Given the description of an element on the screen output the (x, y) to click on. 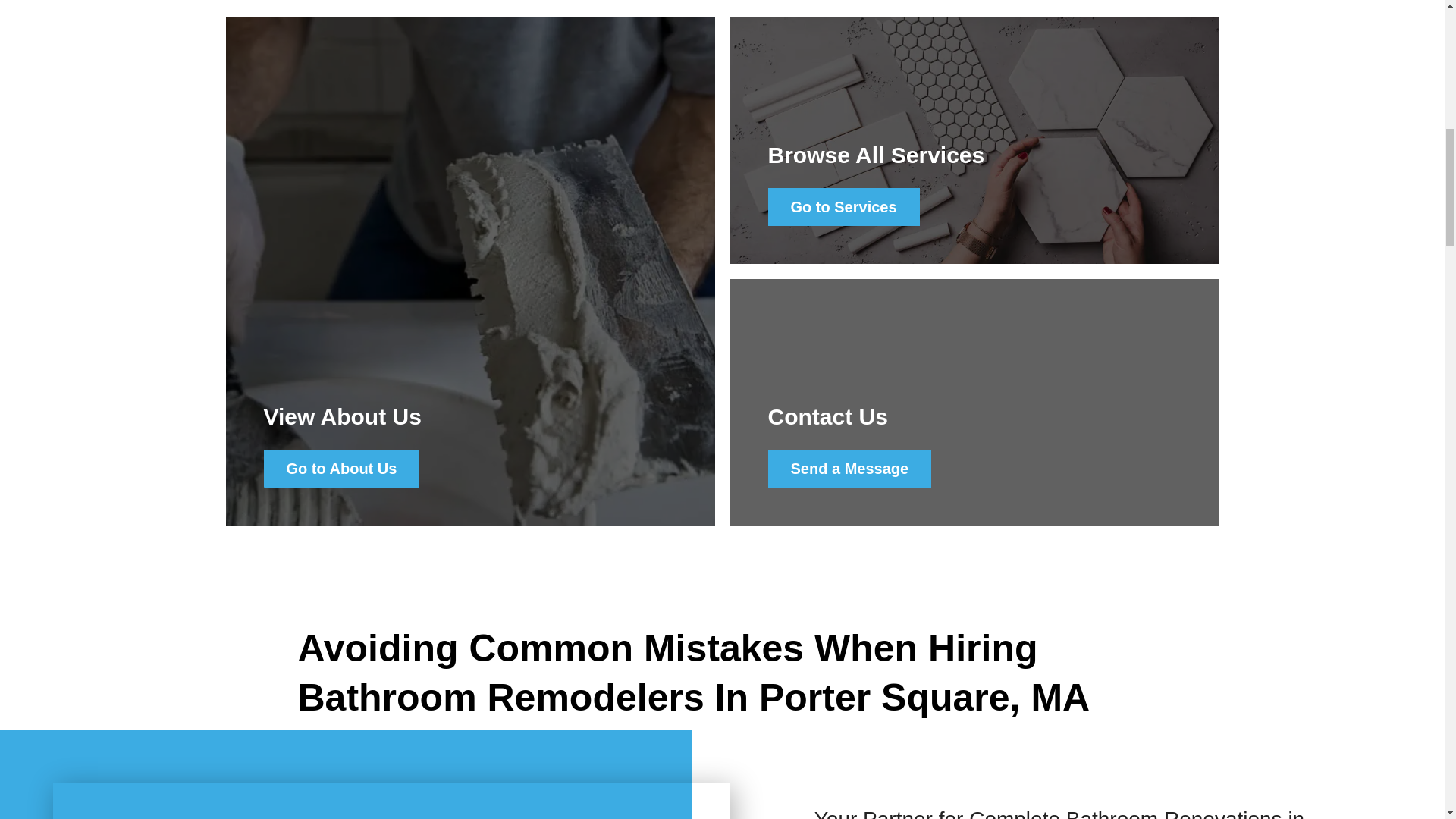
Go to Services (842, 207)
Send a Message (849, 468)
Go to About Us (341, 468)
